Given the description of an element on the screen output the (x, y) to click on. 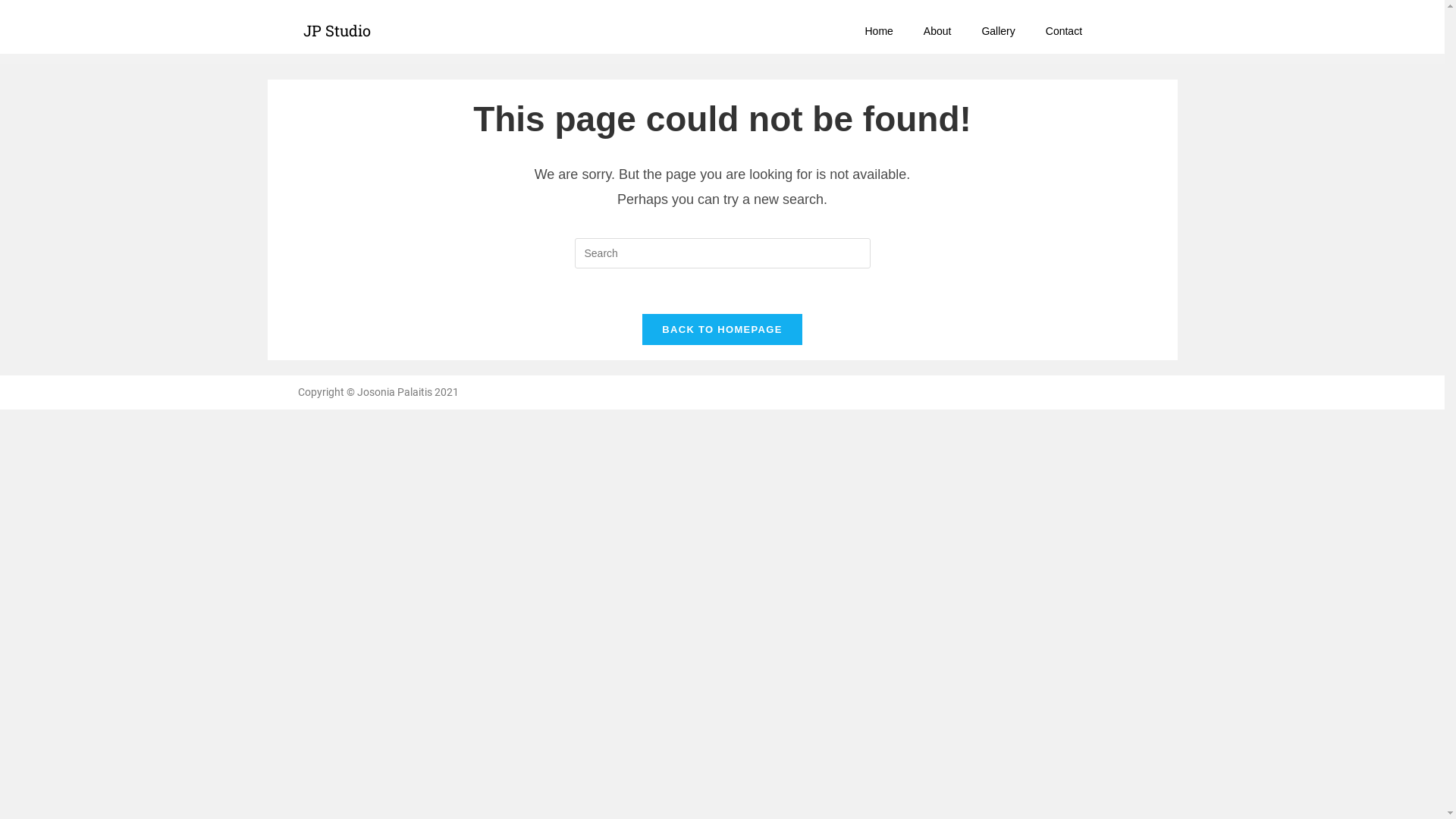
Contact Element type: text (1063, 30)
Home Element type: text (878, 30)
Gallery Element type: text (997, 30)
BACK TO HOMEPAGE Element type: text (721, 329)
About Element type: text (937, 30)
